Given the description of an element on the screen output the (x, y) to click on. 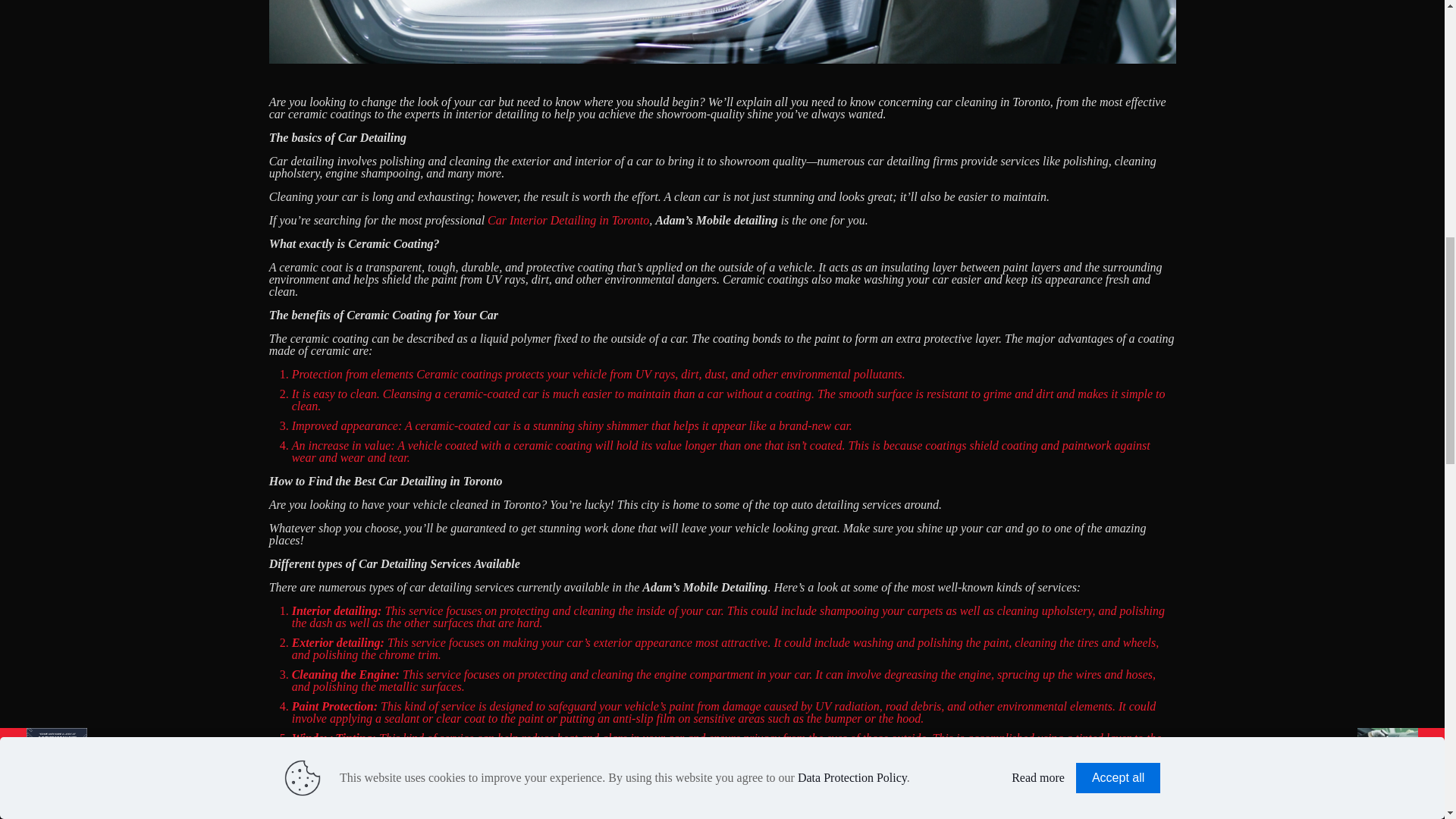
Car Interior Detailing in Toronto (568, 219)
